Given the description of an element on the screen output the (x, y) to click on. 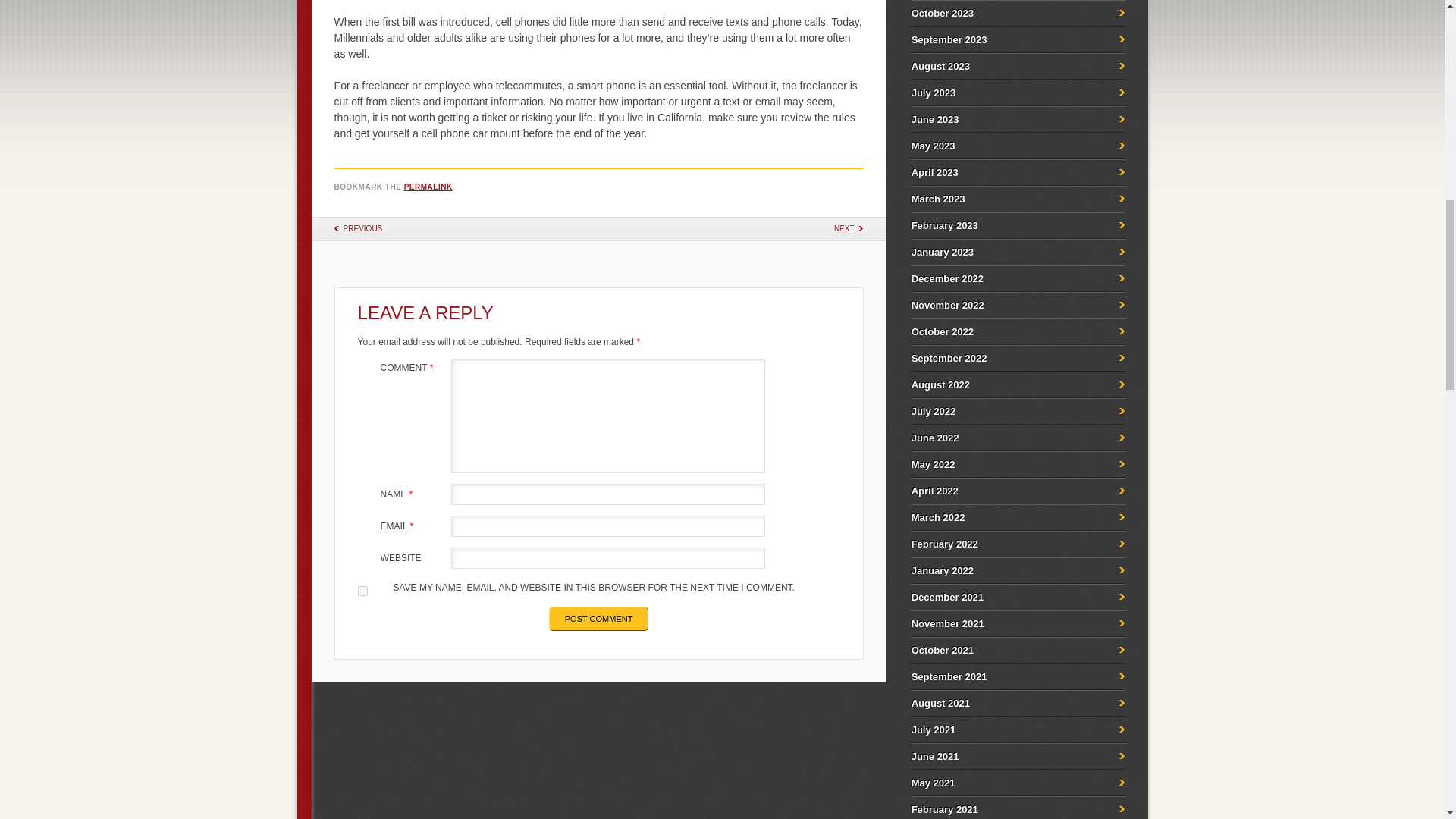
yes (363, 591)
PREVIOUS (362, 228)
PERMALINK (428, 185)
Post Comment (598, 618)
NEXT (844, 228)
Post Comment (598, 618)
